Given the description of an element on the screen output the (x, y) to click on. 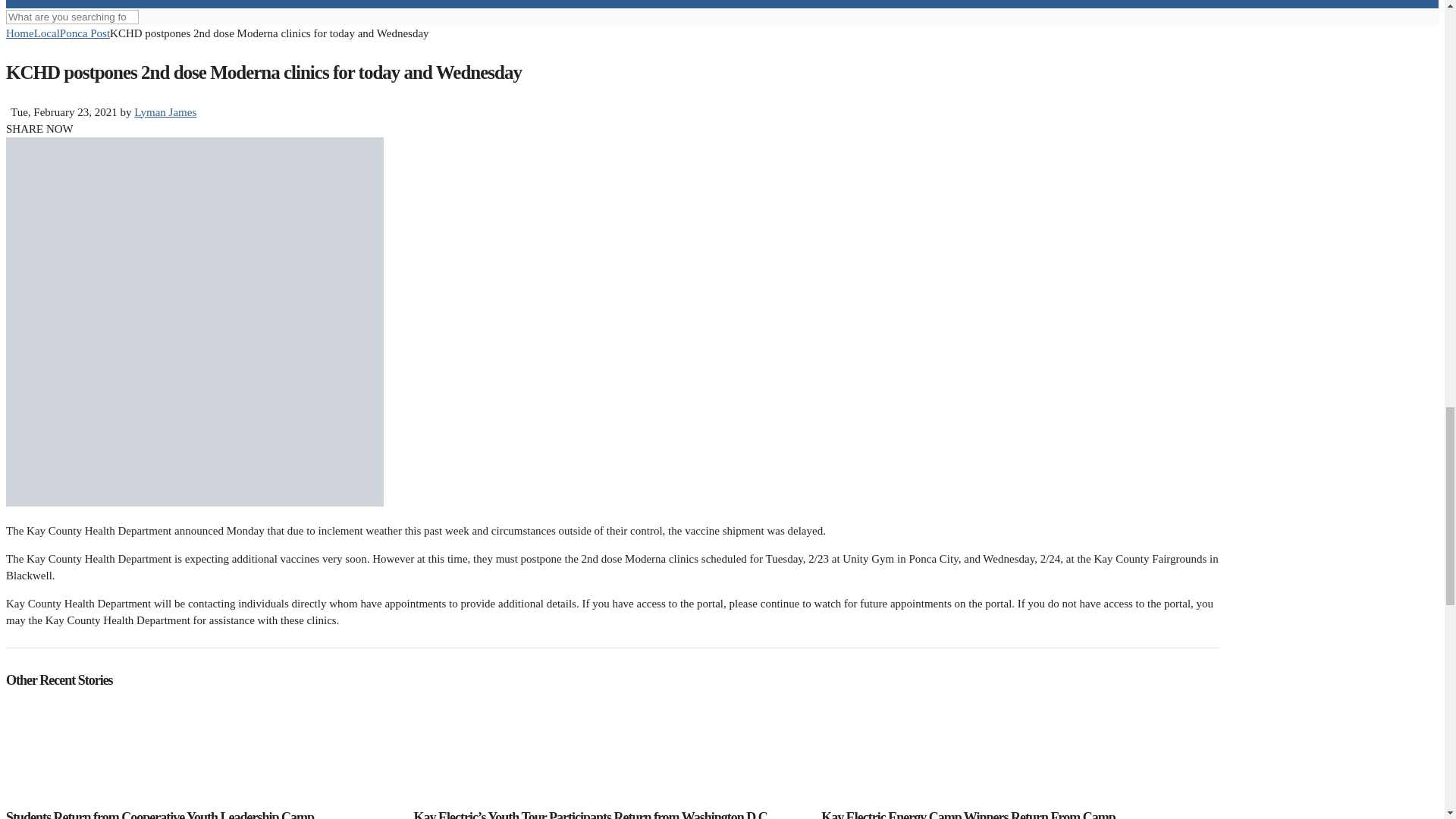
Search for: (71, 16)
Students Return from Cooperative Youth Leadership Camp (203, 814)
Students Return from Cooperative Youth Leadership Camp (203, 753)
Posts by Lyman James (164, 111)
